Given the description of an element on the screen output the (x, y) to click on. 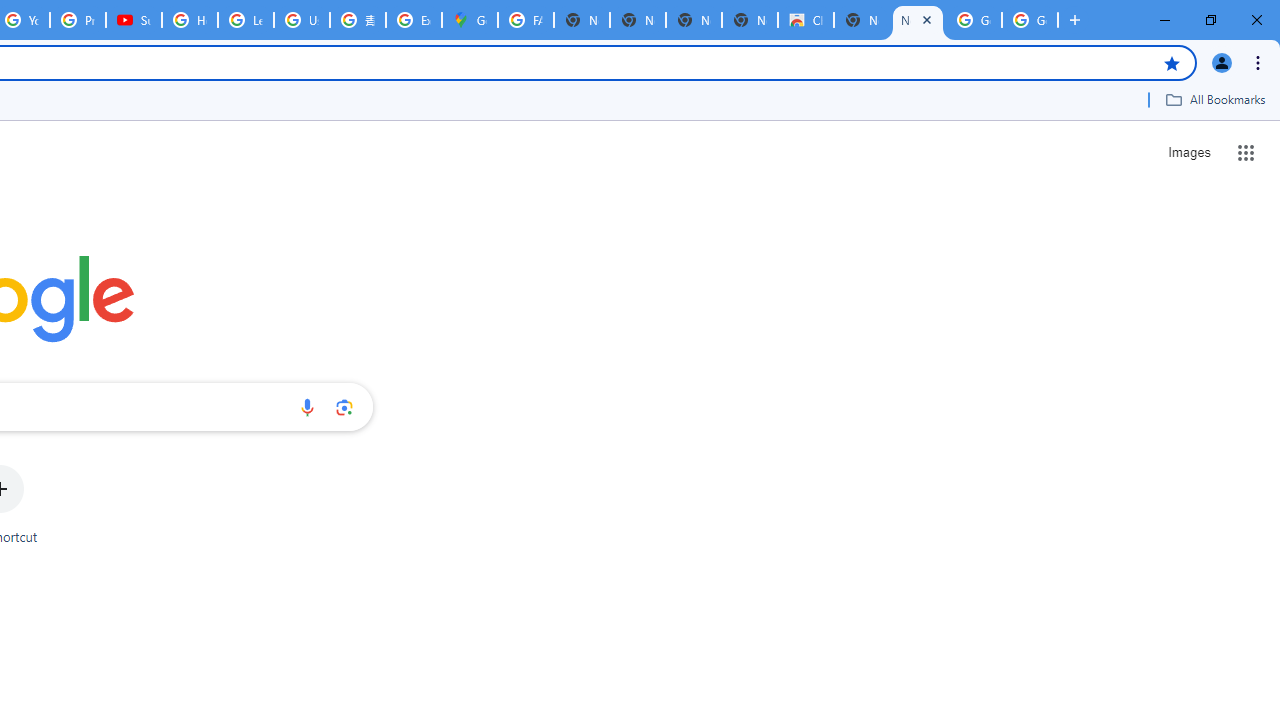
Google Images (1030, 20)
New Tab (917, 20)
How Chrome protects your passwords - Google Chrome Help (189, 20)
Chrome Web Store (806, 20)
